Given the description of an element on the screen output the (x, y) to click on. 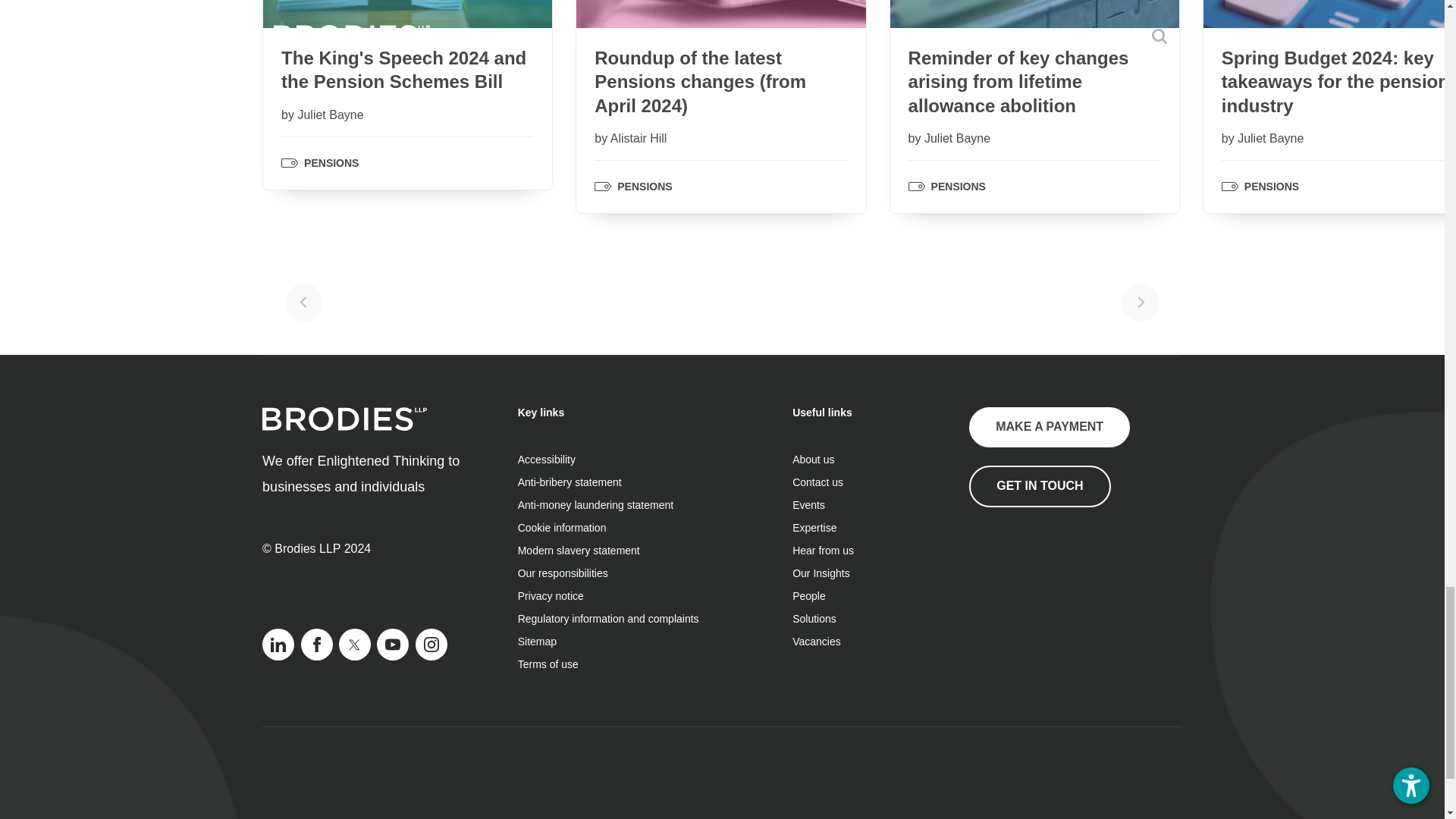
Instagram logo (431, 644)
Youtube logo (392, 644)
Click to return to the homepage (344, 426)
Solicitors Regulation Authority link (1045, 582)
Brodies (344, 418)
